Given the description of an element on the screen output the (x, y) to click on. 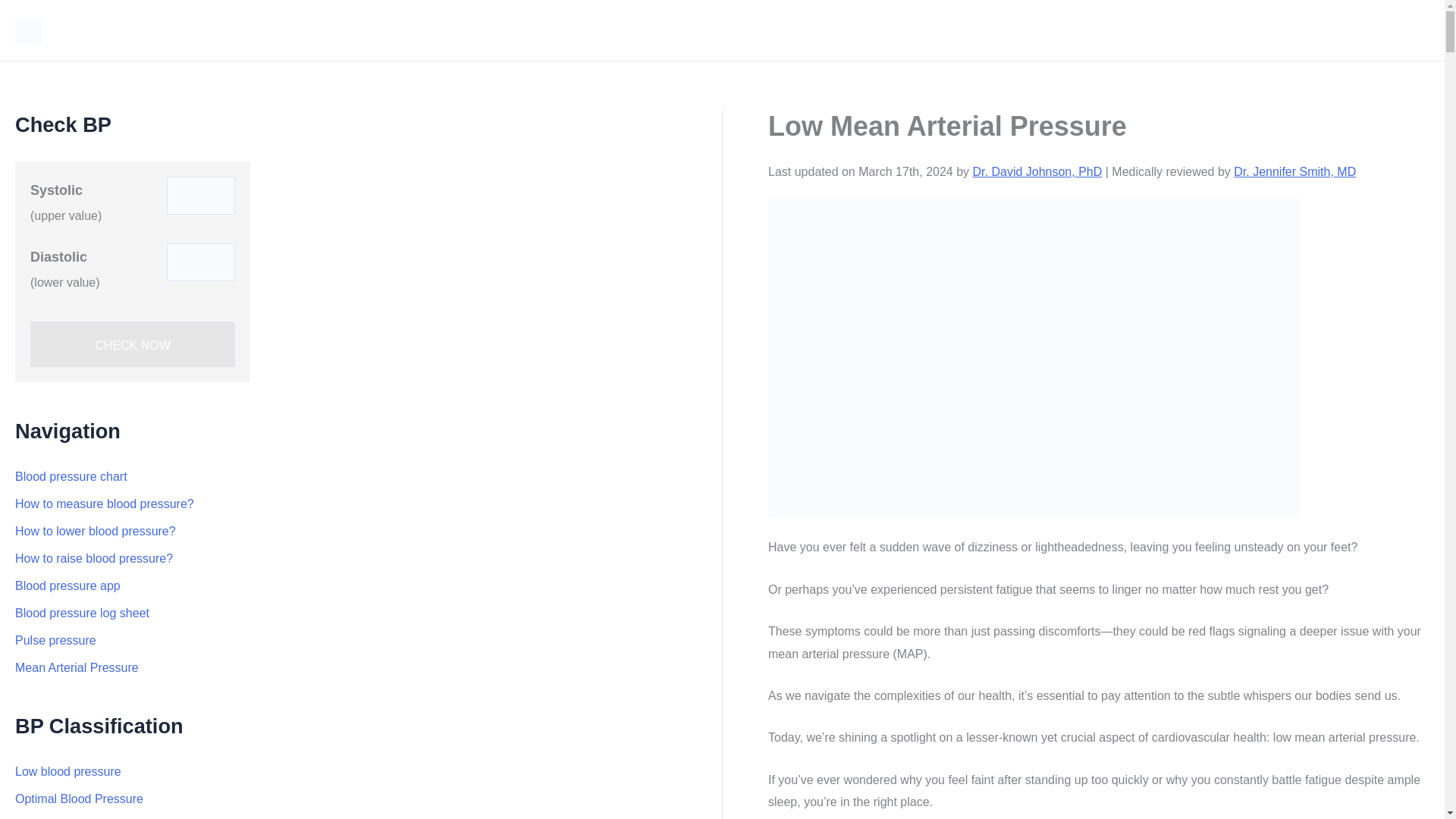
How to measure blood pressure? (103, 503)
Dr. David Johnson, PhD (1037, 171)
Dr. Jennifer Smith, MD (1294, 171)
Optimal Blood Pressure (78, 798)
Blood pressure app (67, 585)
How to raise blood pressure? (93, 558)
Home (1401, 30)
Blood pressure log sheet (81, 612)
Blood pressure chart (71, 476)
Pulse pressure (55, 640)
